Given the description of an element on the screen output the (x, y) to click on. 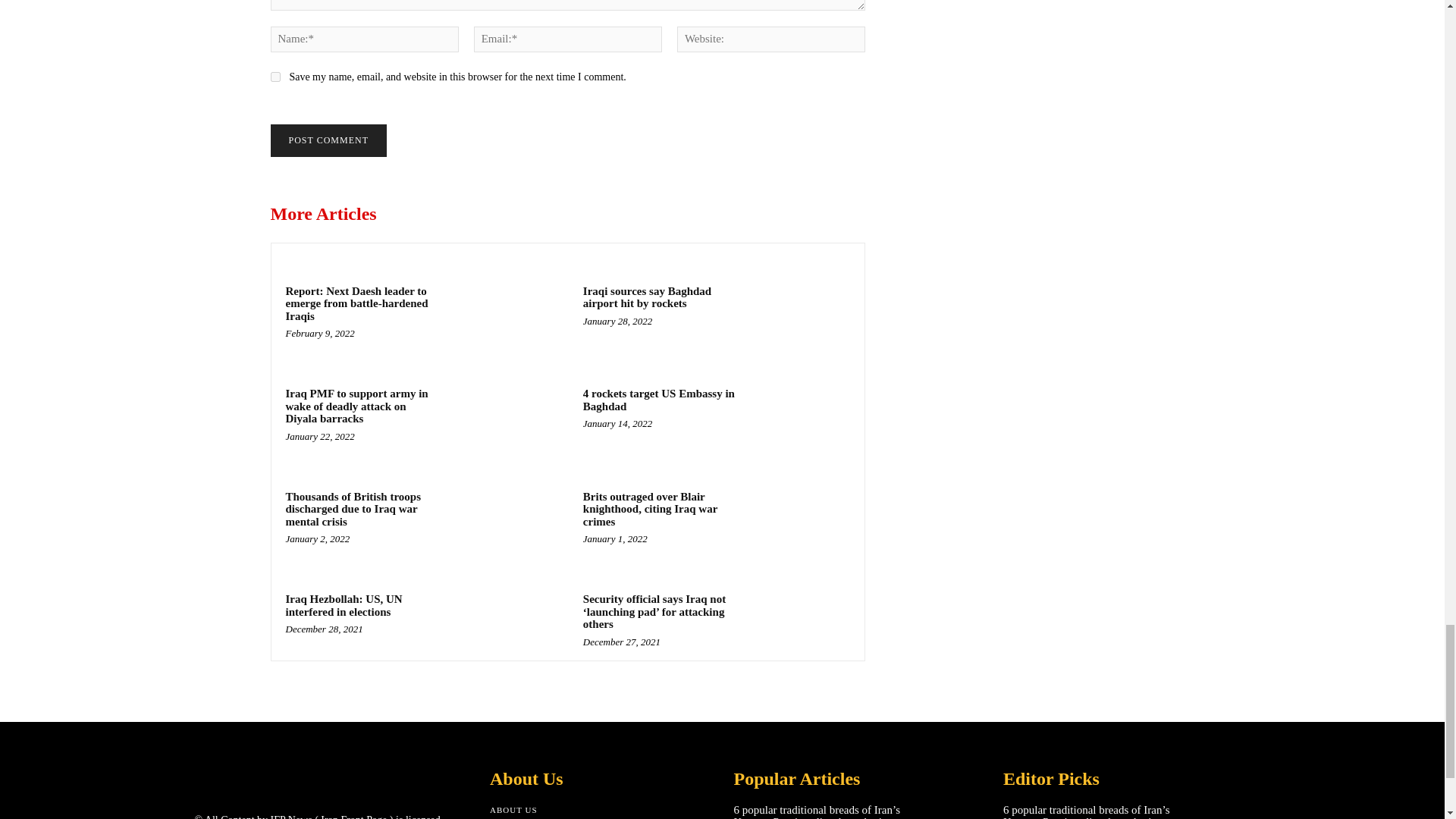
yes (274, 76)
Post Comment (327, 140)
